Given the description of an element on the screen output the (x, y) to click on. 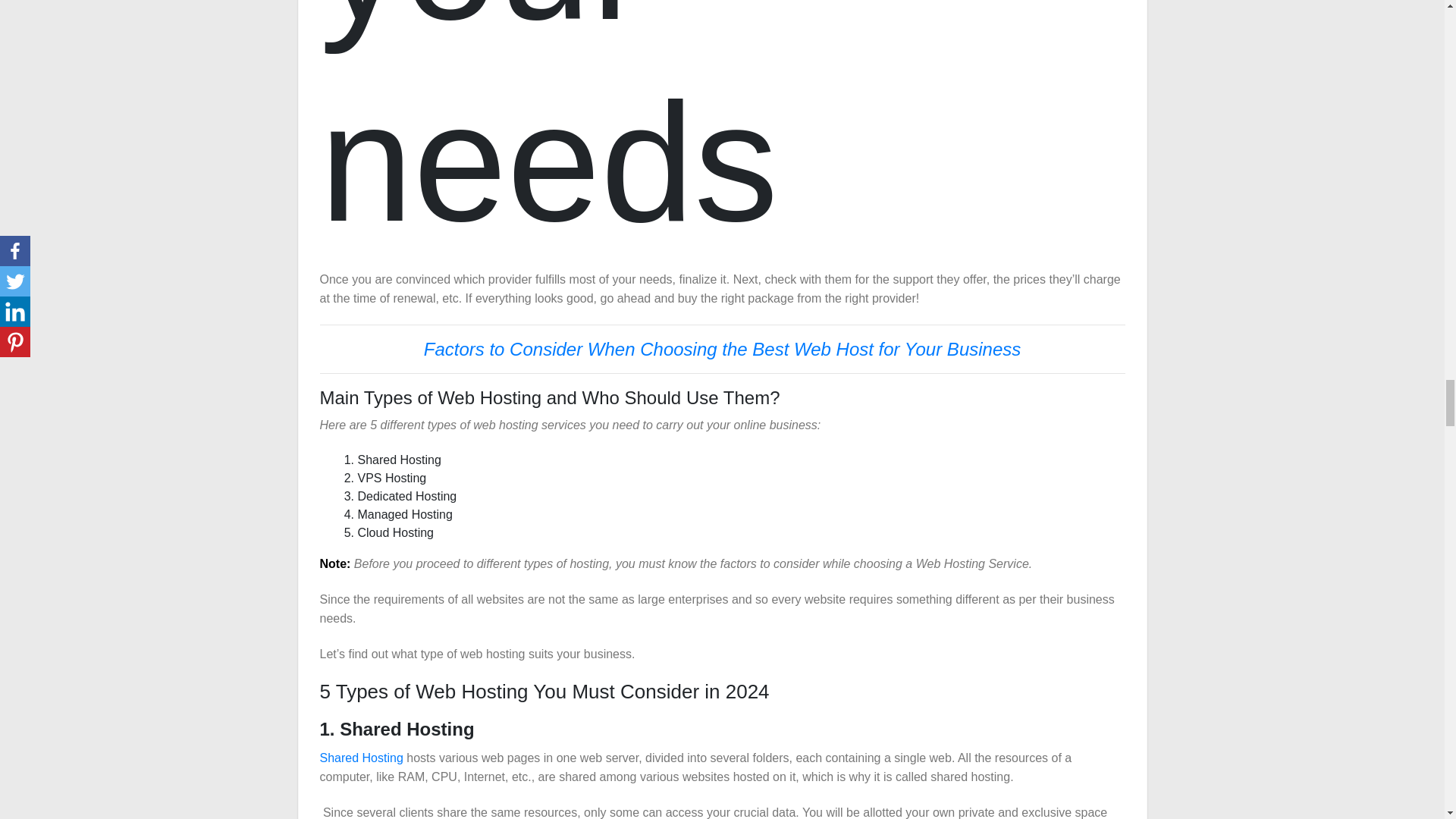
Shared Hosting (361, 757)
